Given the description of an element on the screen output the (x, y) to click on. 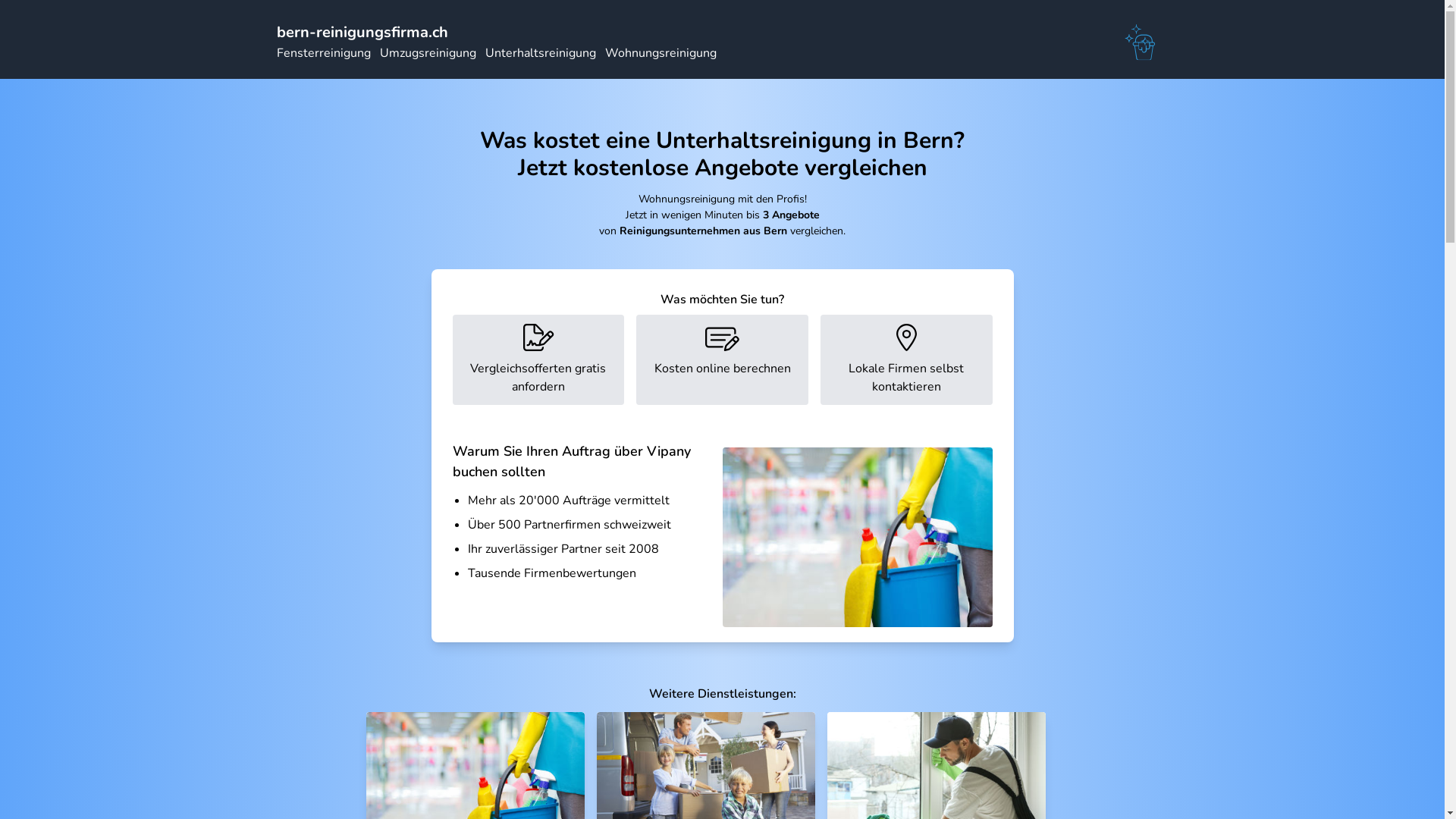
Wohnungsreinigung Element type: text (660, 52)
bern-reinigungsfirma.ch Element type: text (361, 31)
Umzugsreinigung Element type: text (427, 52)
Unterhaltsreinigung Element type: text (540, 52)
Fensterreinigung Element type: text (323, 52)
